Given the description of an element on the screen output the (x, y) to click on. 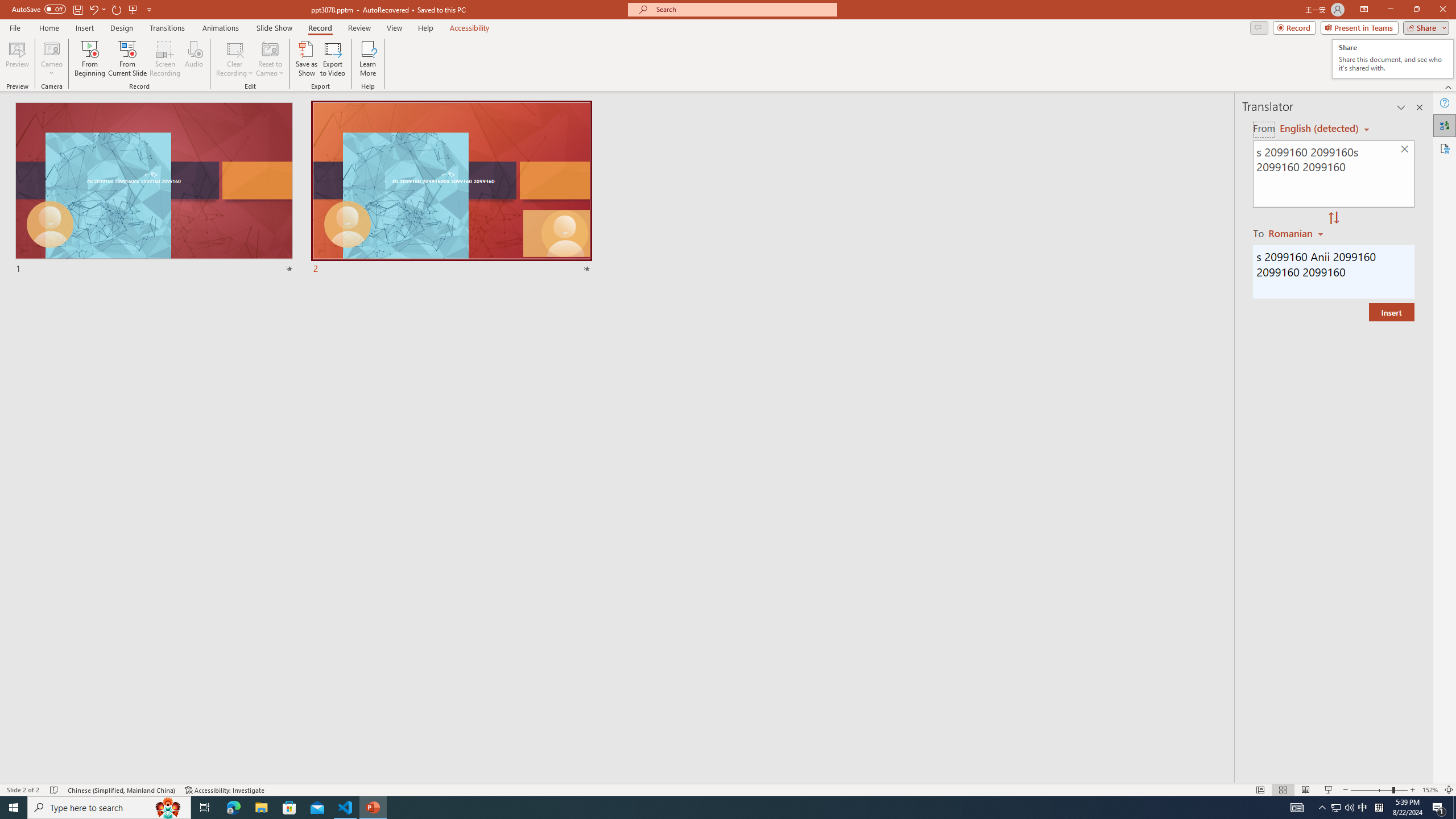
Romanian (1296, 232)
